Given the description of an element on the screen output the (x, y) to click on. 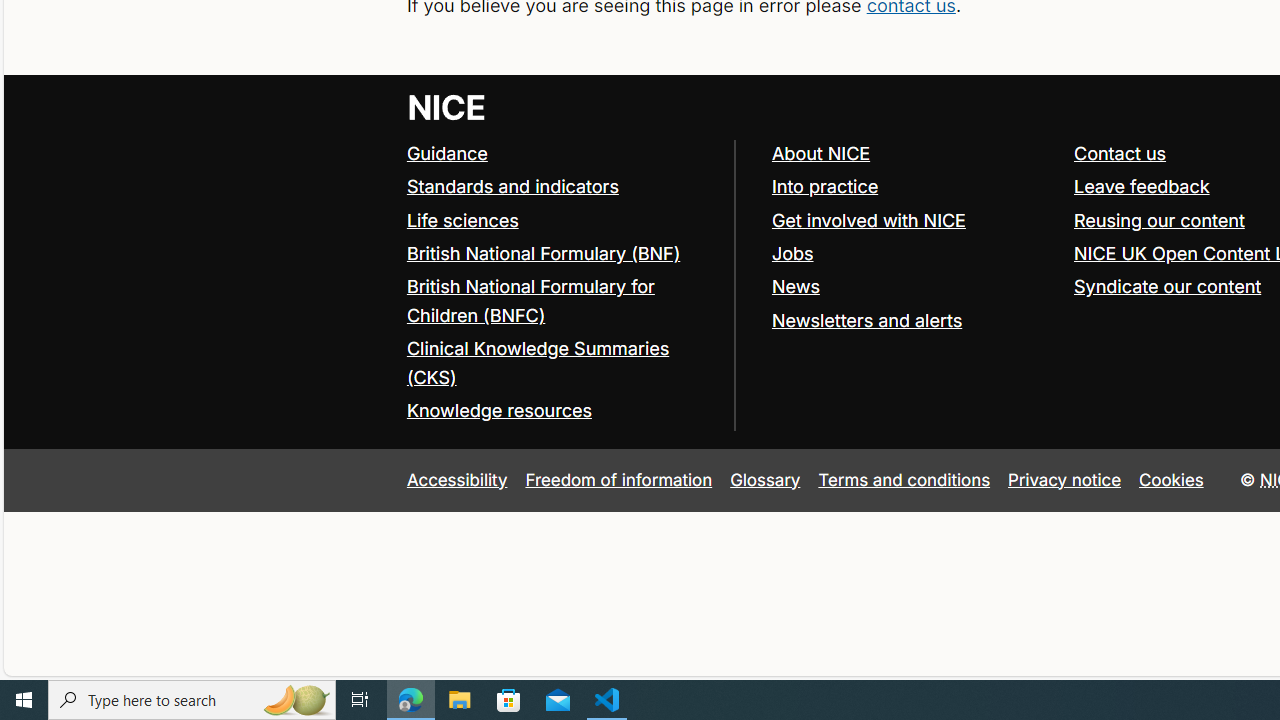
Knowledge resources (560, 411)
Into practice (913, 187)
About NICE (820, 152)
Newsletters and alerts (913, 321)
Freedom of information (618, 479)
Accessibility (456, 479)
Contact us (1120, 152)
Accessibility (456, 479)
Syndicate our content (1167, 285)
Terms and conditions (903, 479)
Privacy notice (1065, 479)
